Given the description of an element on the screen output the (x, y) to click on. 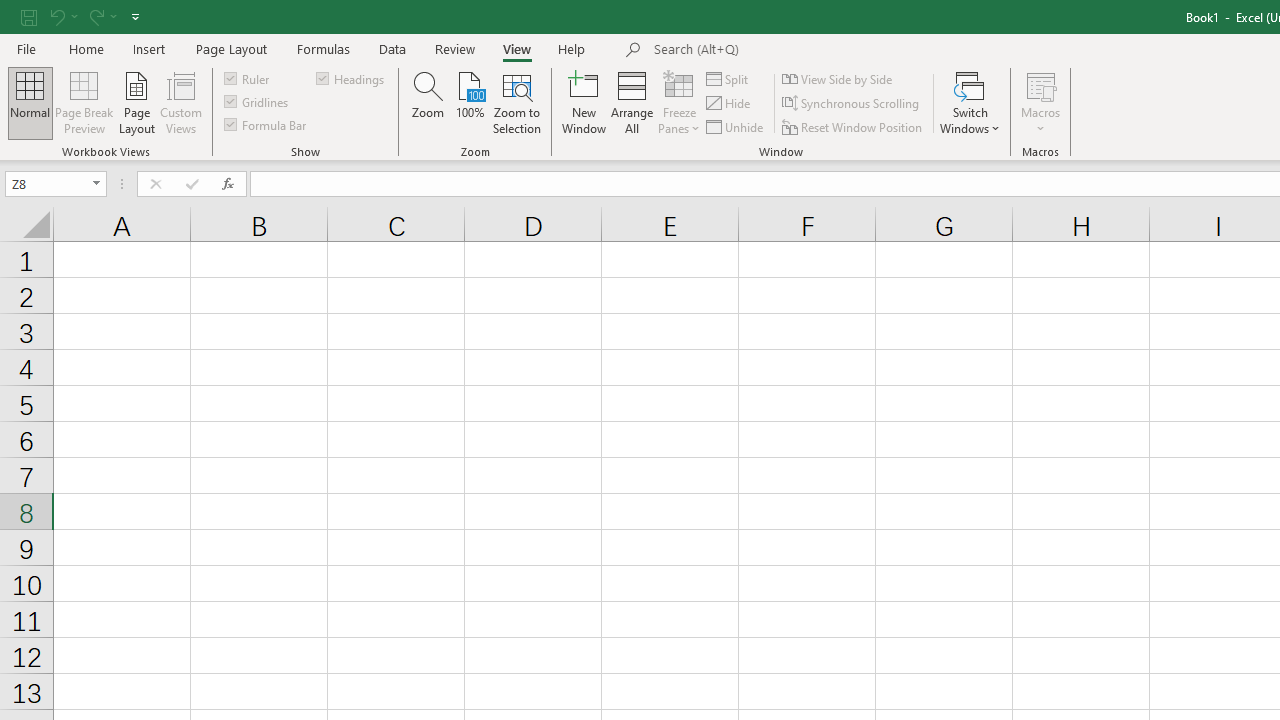
View Side by Side (838, 78)
Reset Window Position (854, 126)
100% (470, 102)
Customize Quick Access Toolbar (135, 15)
Home (86, 48)
View Macros (1040, 84)
Split (728, 78)
Arrange All (632, 102)
Synchronous Scrolling (852, 103)
Unhide... (736, 126)
Page Break Preview (84, 102)
